Given the description of an element on the screen output the (x, y) to click on. 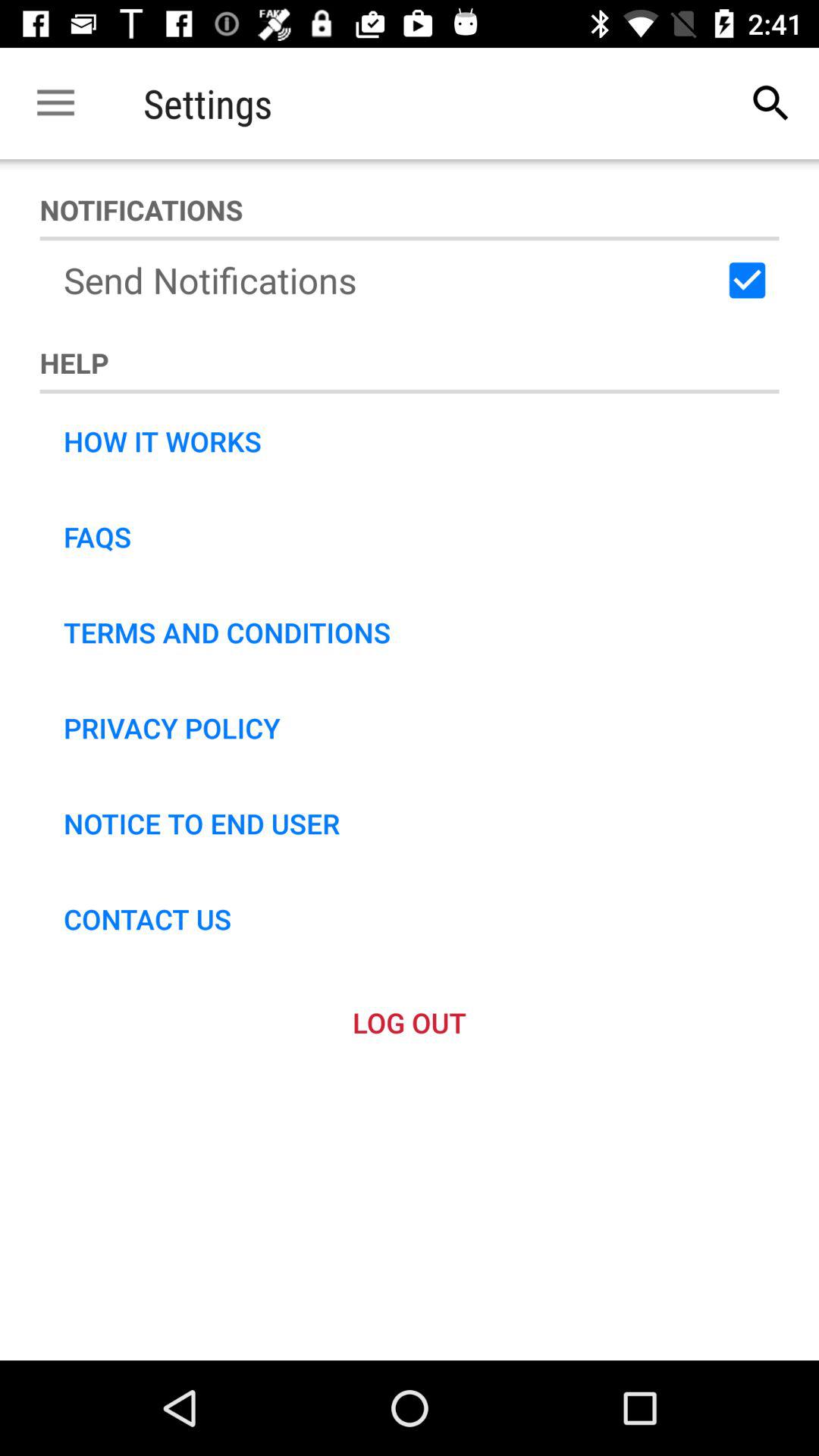
tap the icon below contact us (409, 1022)
